Given the description of an element on the screen output the (x, y) to click on. 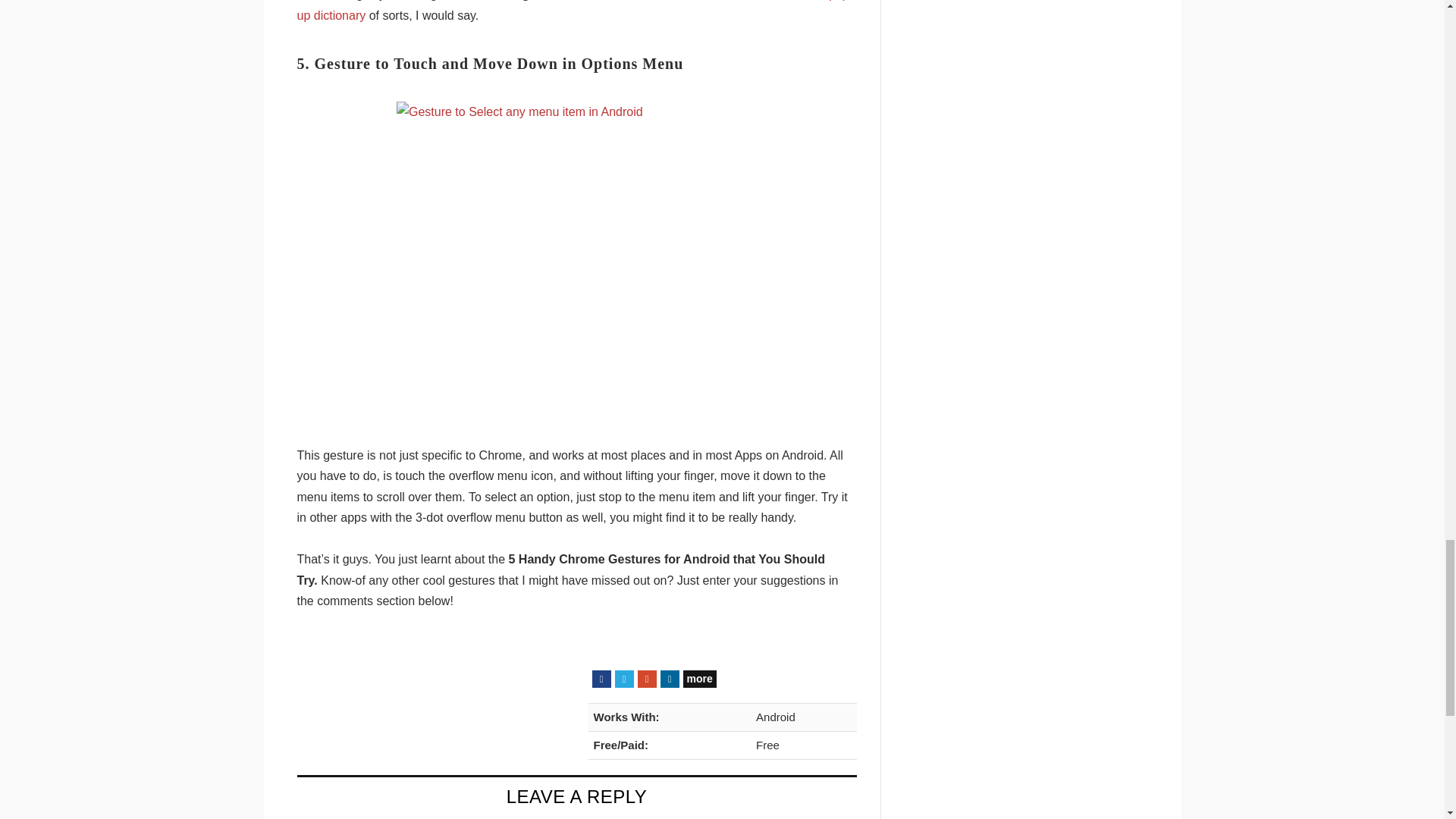
Share on LinkedIn (668, 678)
pop-up dictionary (575, 10)
Share on Facebook (600, 678)
Gesture to Select any menu item in Android (576, 259)
5 Best Free Pop-up Dictionary Lookup Apps for Android (575, 10)
Tweet It (623, 678)
